Given the description of an element on the screen output the (x, y) to click on. 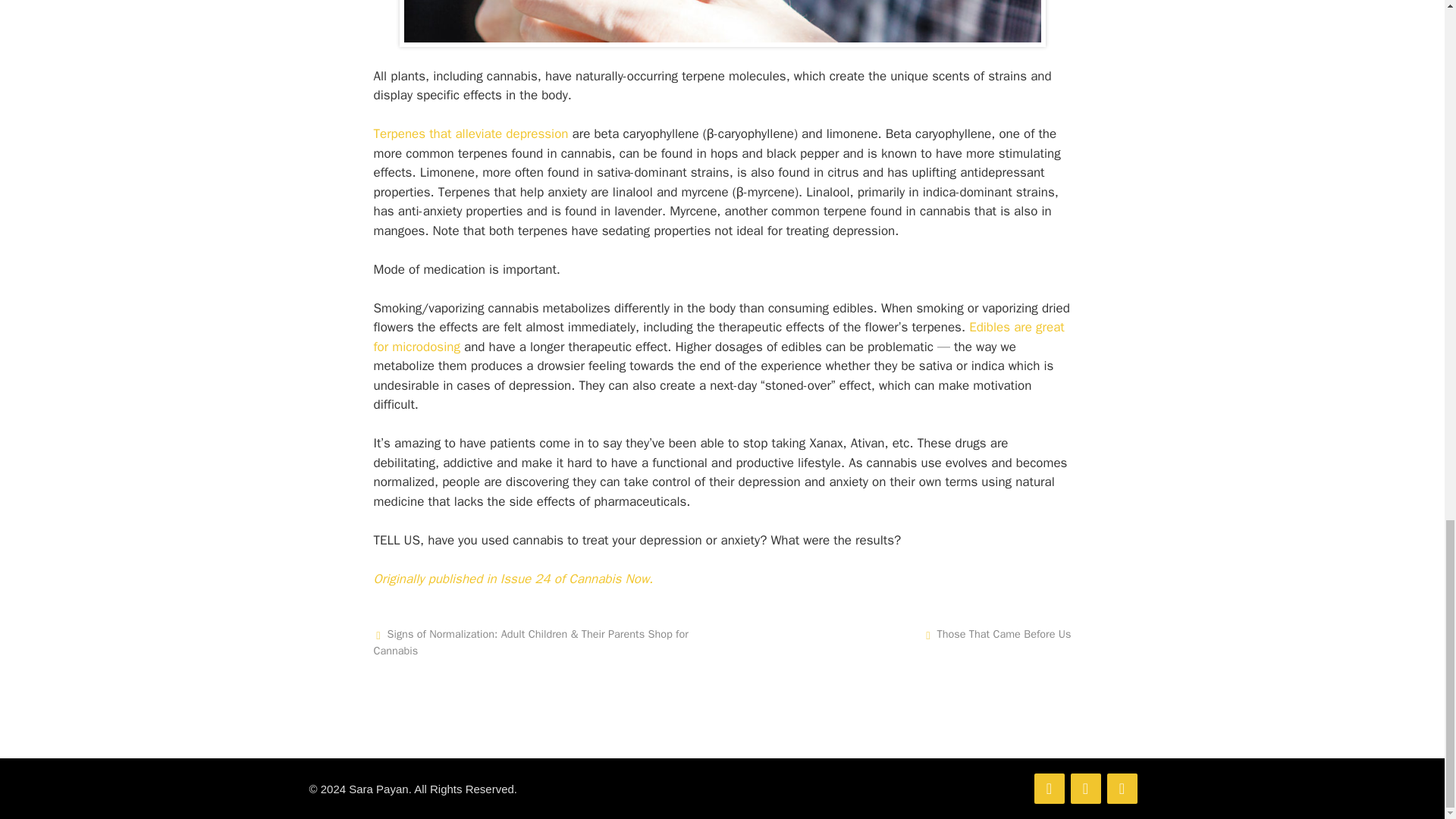
Twitter (1048, 788)
Edibles are great for microdosing (718, 336)
Originally published in Issue 24 of Cannabis Now. (512, 578)
Instagram (1085, 788)
Terpenes that alleviate depression (469, 133)
Those That Came Before Us (1003, 633)
Facebook (1121, 788)
Scroll back to top (1417, 92)
